Given the description of an element on the screen output the (x, y) to click on. 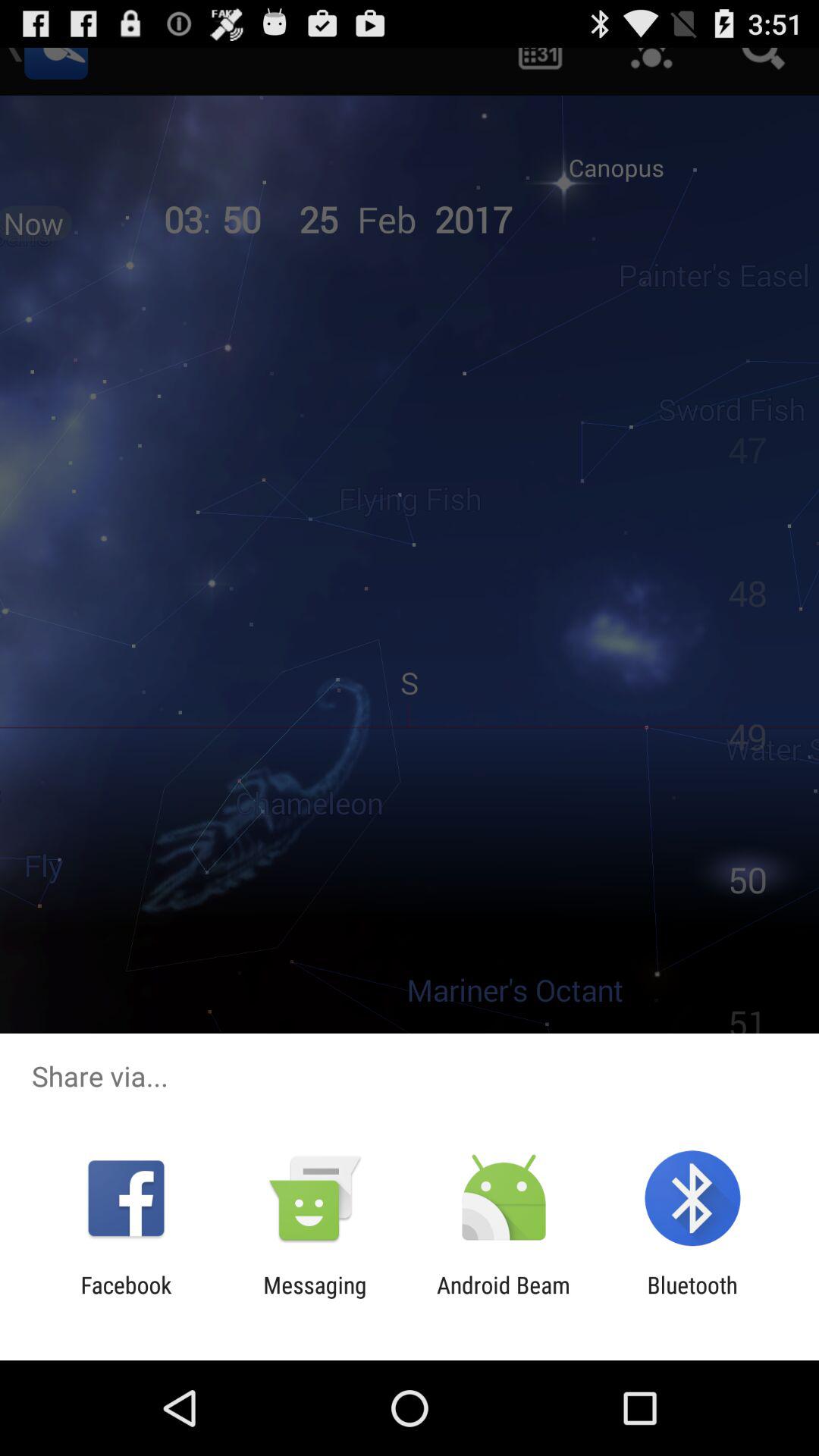
choose the icon next to messaging (125, 1298)
